Given the description of an element on the screen output the (x, y) to click on. 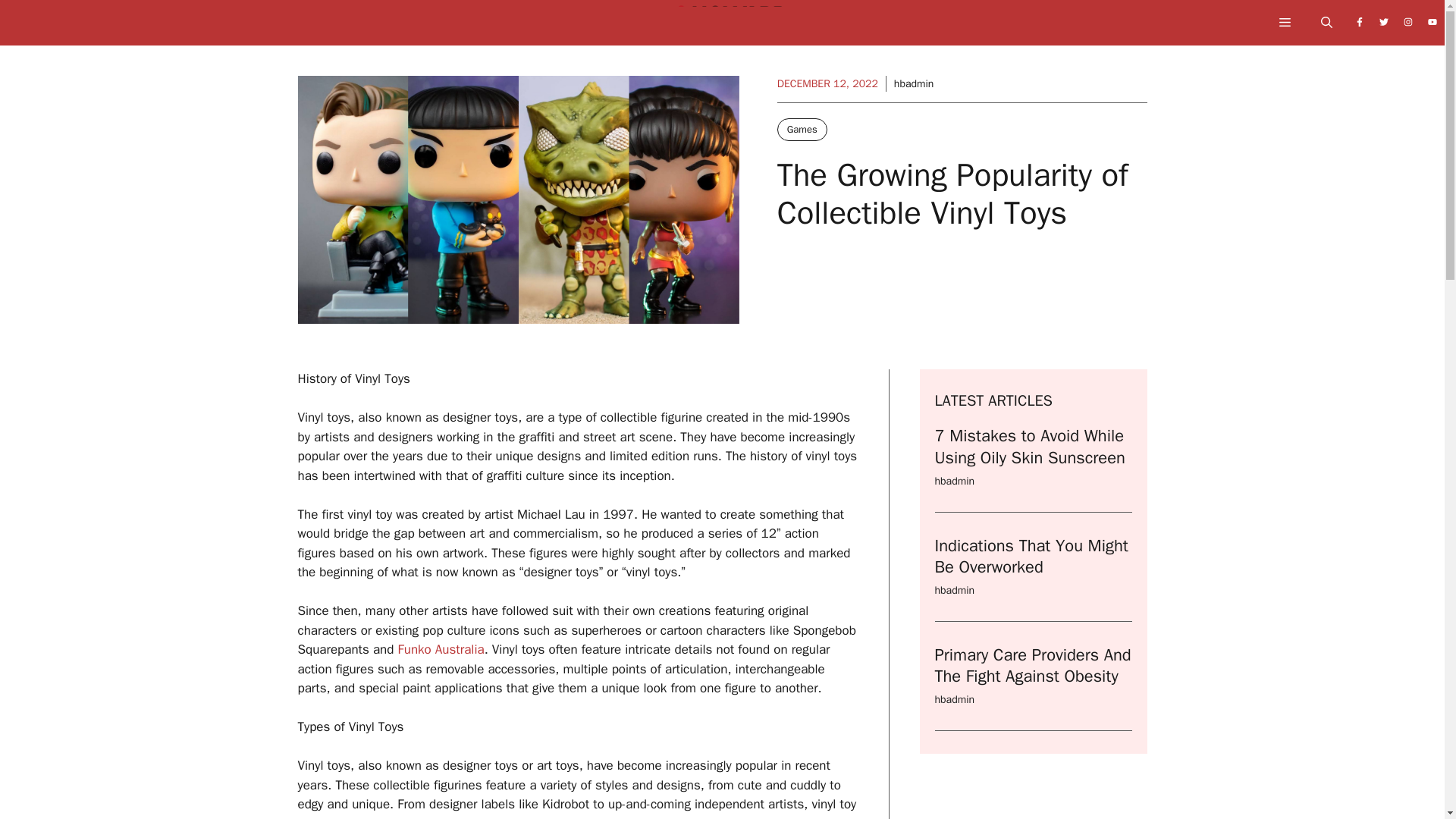
hbadmin (954, 590)
hbadmin (913, 83)
Howard University Bison (729, 26)
hbadmin (954, 698)
Indications That You Might Be Overworked (1030, 556)
hbadmin (954, 481)
Games (802, 128)
7 Mistakes to Avoid While Using Oily Skin Sunscreen (1029, 446)
Funko Australia (440, 649)
Primary Care Providers And The Fight Against Obesity (1032, 665)
